Given the description of an element on the screen output the (x, y) to click on. 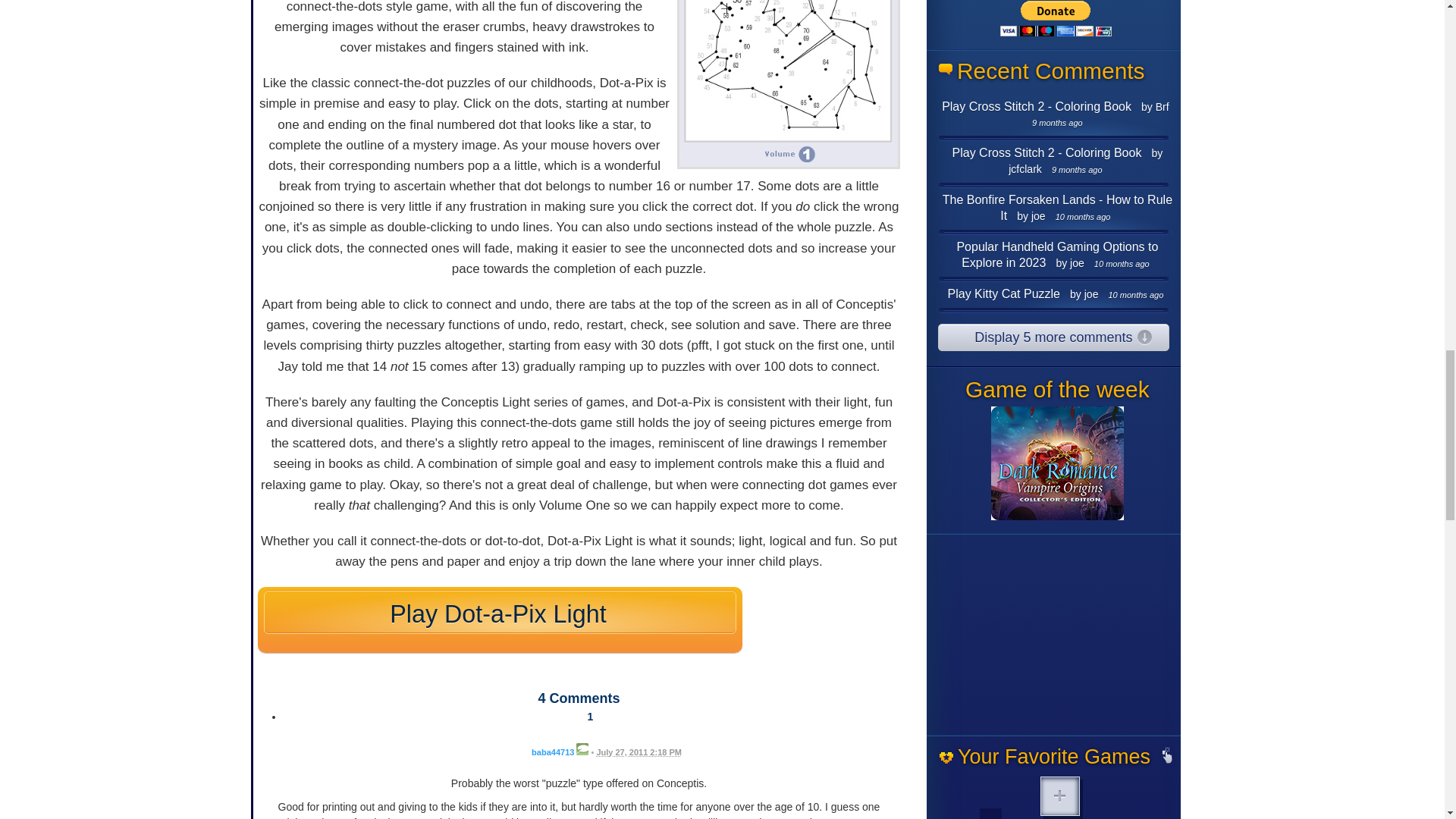
2011-07-27T14:18:24-05:00 (638, 751)
